Given the description of an element on the screen output the (x, y) to click on. 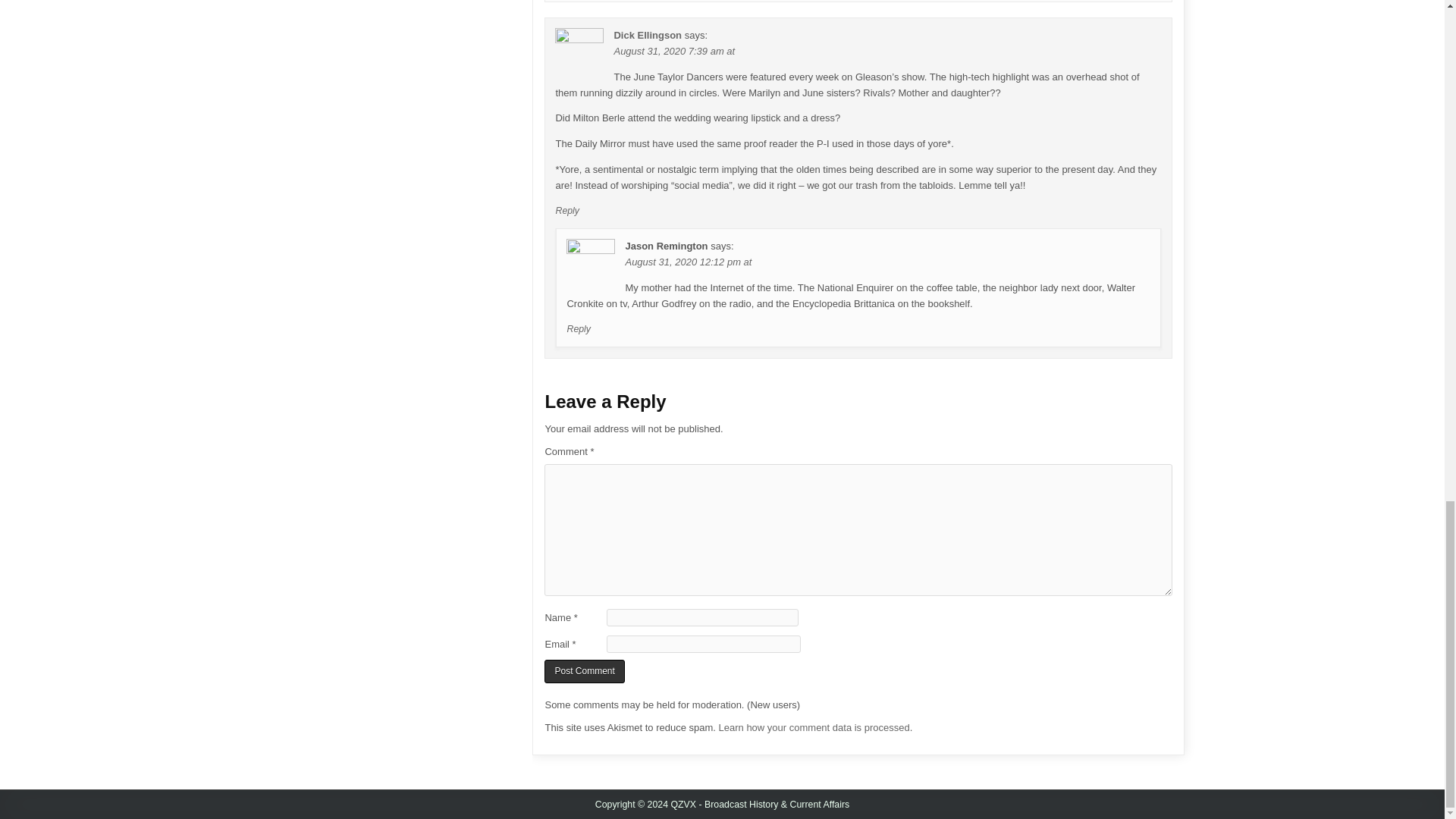
Post Comment (584, 671)
